Given the description of an element on the screen output the (x, y) to click on. 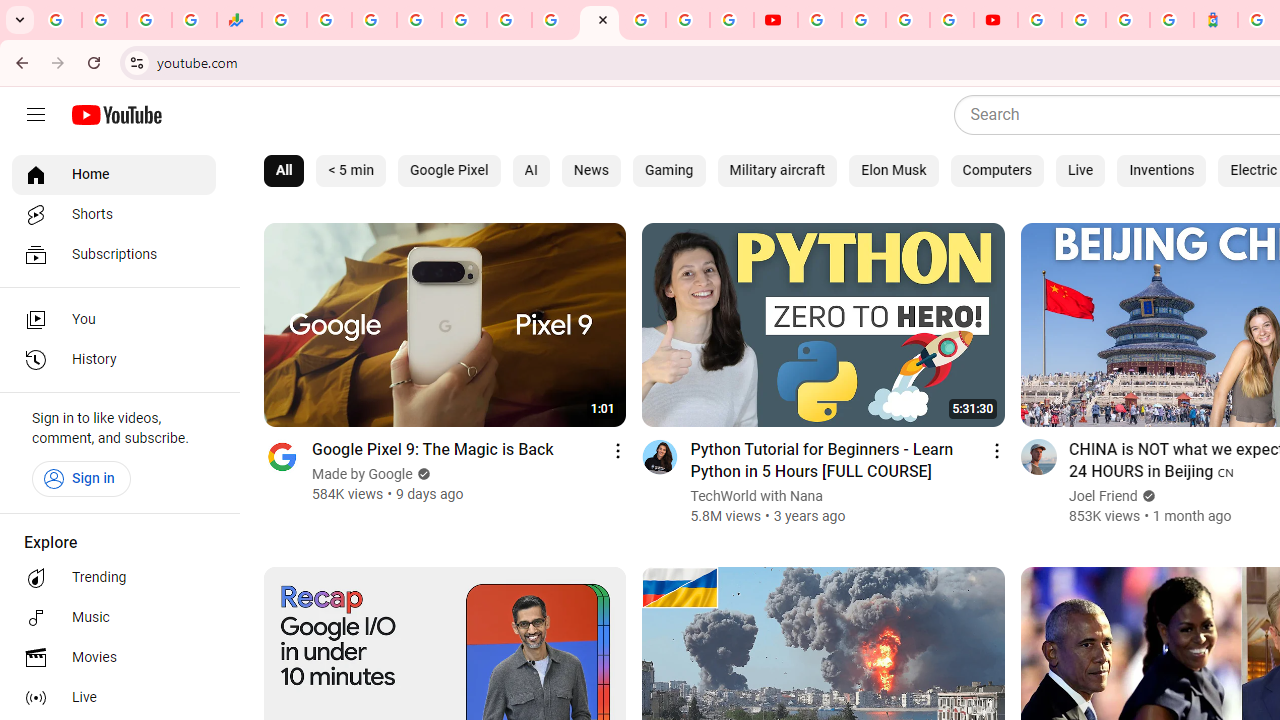
Action menu (996, 449)
YouTube (819, 20)
Go to channel (1038, 456)
Live (1079, 170)
Live (113, 697)
Create your Google Account (907, 20)
AI (531, 170)
Music (113, 617)
Joel Friend (1103, 496)
News (590, 170)
Sign in - Google Accounts (1083, 20)
Military aircraft (777, 170)
